Given the description of an element on the screen output the (x, y) to click on. 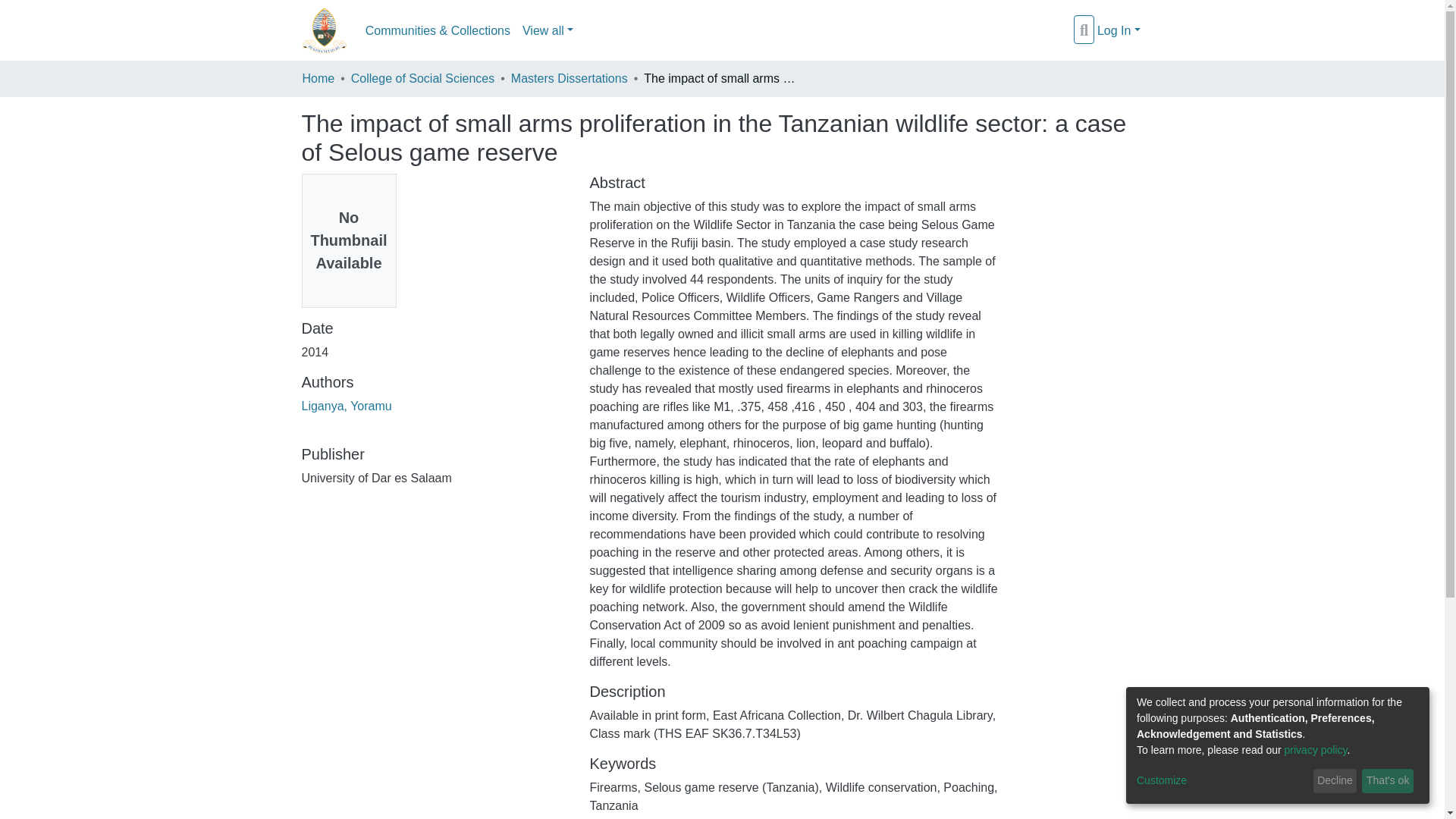
Search (1084, 30)
Decline (1334, 781)
Home (317, 78)
College of Social Sciences (422, 78)
Customize (1222, 780)
Liganya, Yoramu (346, 405)
privacy policy (1316, 749)
Masters Dissertations (569, 78)
View all (547, 30)
Log In (1118, 30)
That's ok (1387, 781)
